Given the description of an element on the screen output the (x, y) to click on. 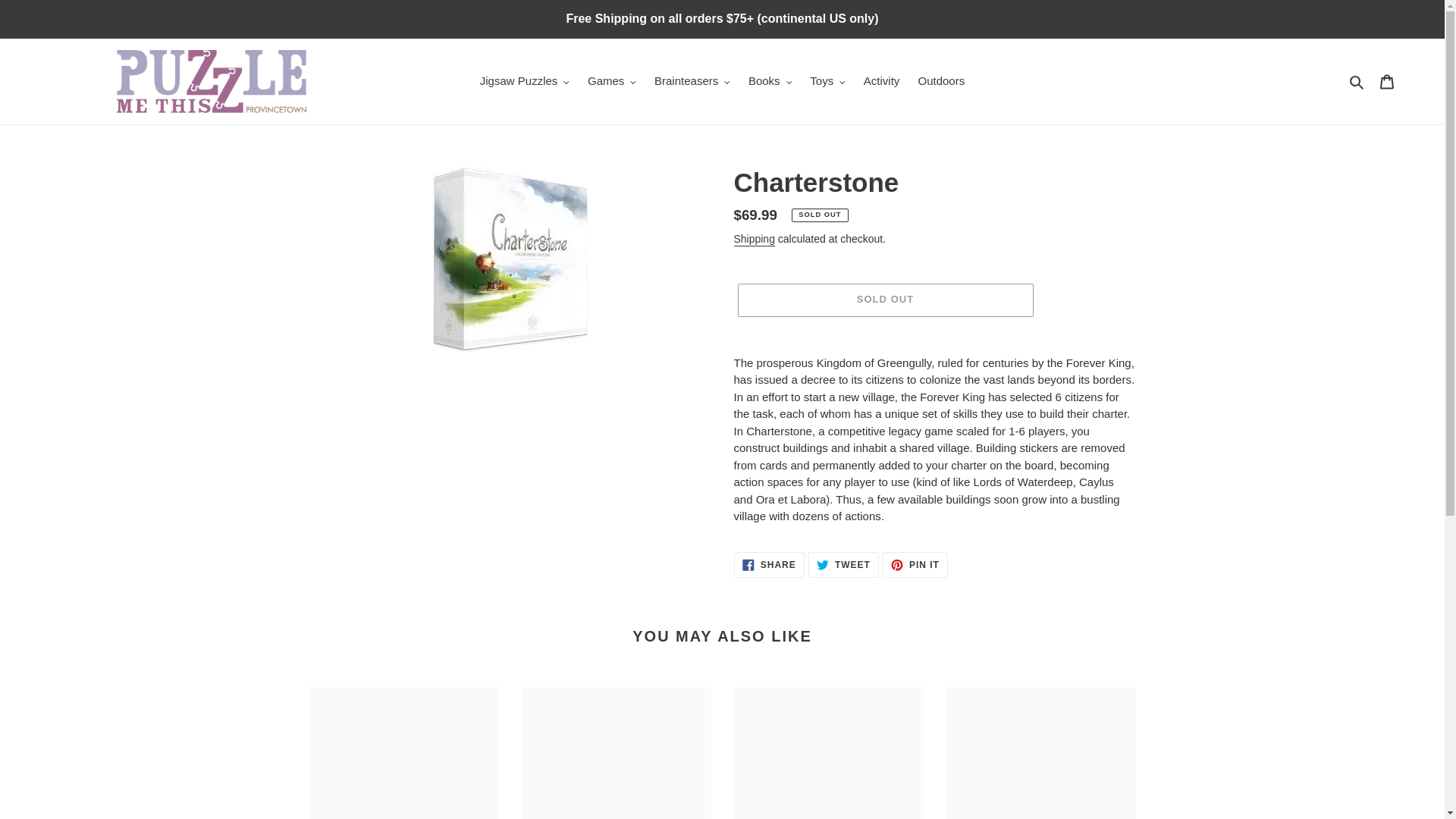
Brainteasers (692, 81)
Games (611, 81)
Jigsaw Puzzles (523, 81)
Toys (826, 81)
Books (770, 81)
